Given the description of an element on the screen output the (x, y) to click on. 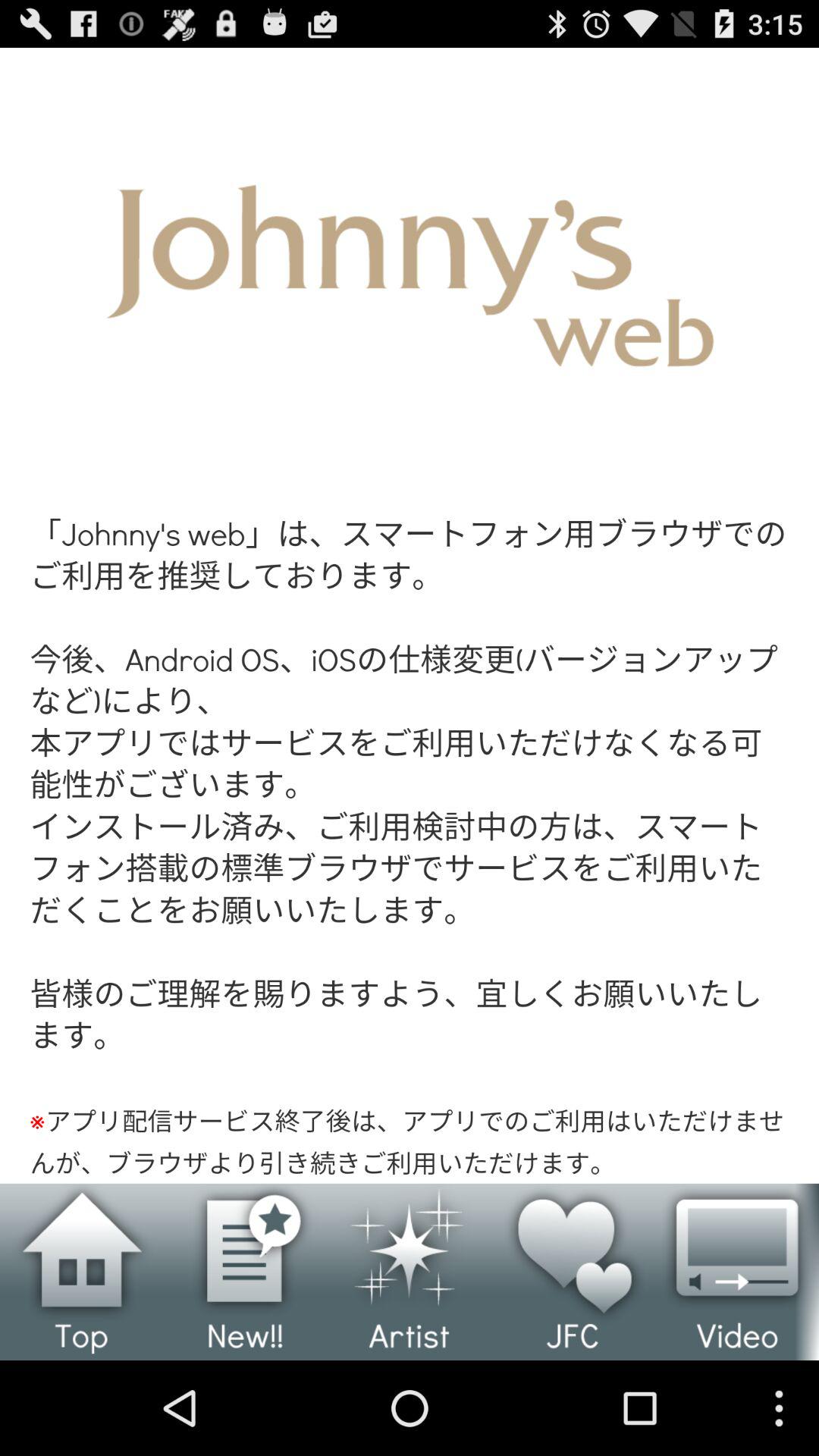
open videos (737, 1271)
